Given the description of an element on the screen output the (x, y) to click on. 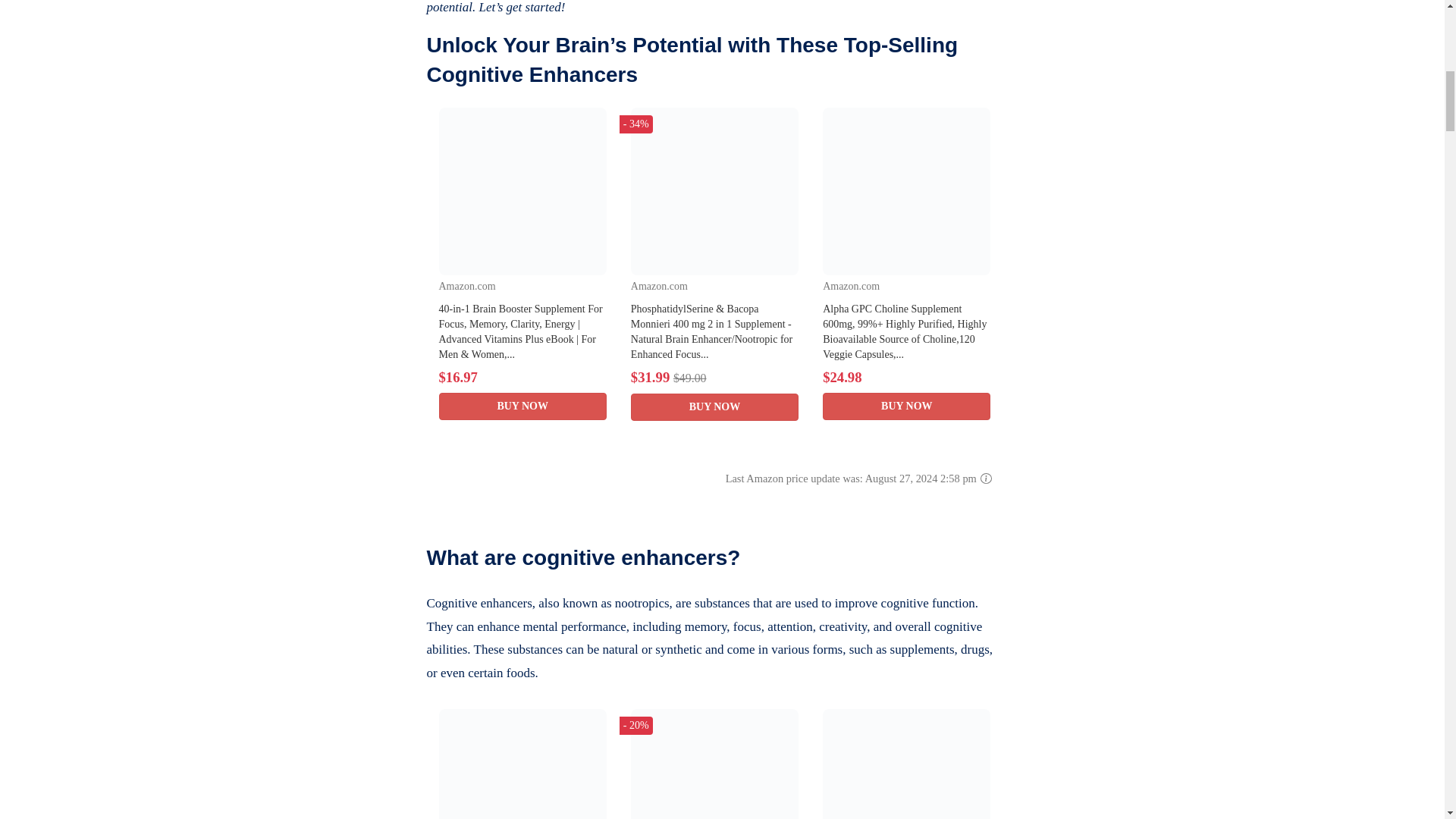
BUY NOW (713, 406)
Share on Whatsapp (388, 28)
Share on Telegram (388, 4)
BUY NOW (906, 406)
BUY NOW (521, 406)
